Given the description of an element on the screen output the (x, y) to click on. 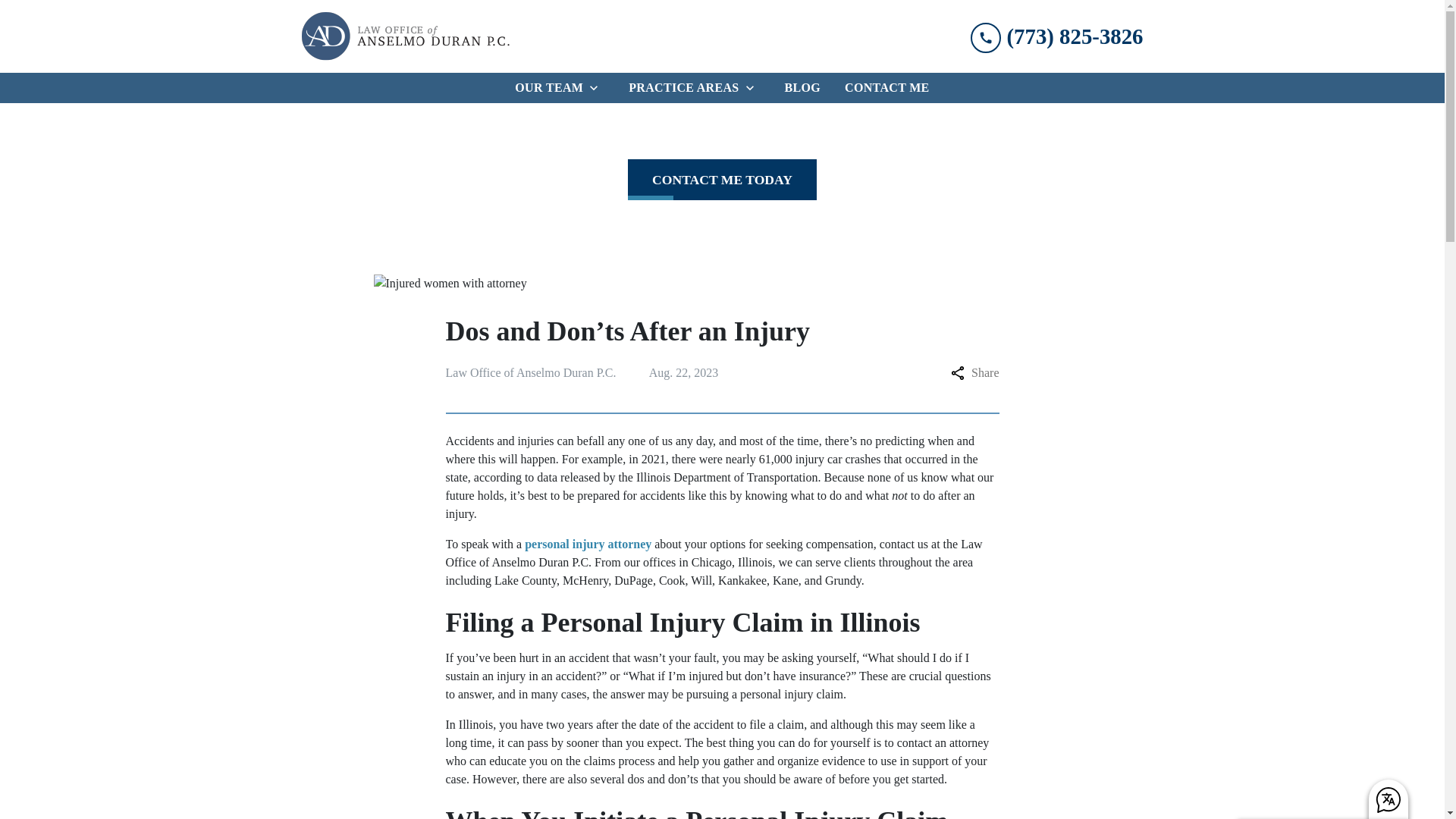
OUR TEAM (545, 87)
CONTACT ME (887, 87)
personal injury attorney (587, 543)
Share (974, 372)
CONTACT ME TODAY (721, 178)
BLOG (802, 87)
PRACTICE AREAS (680, 87)
